Given the description of an element on the screen output the (x, y) to click on. 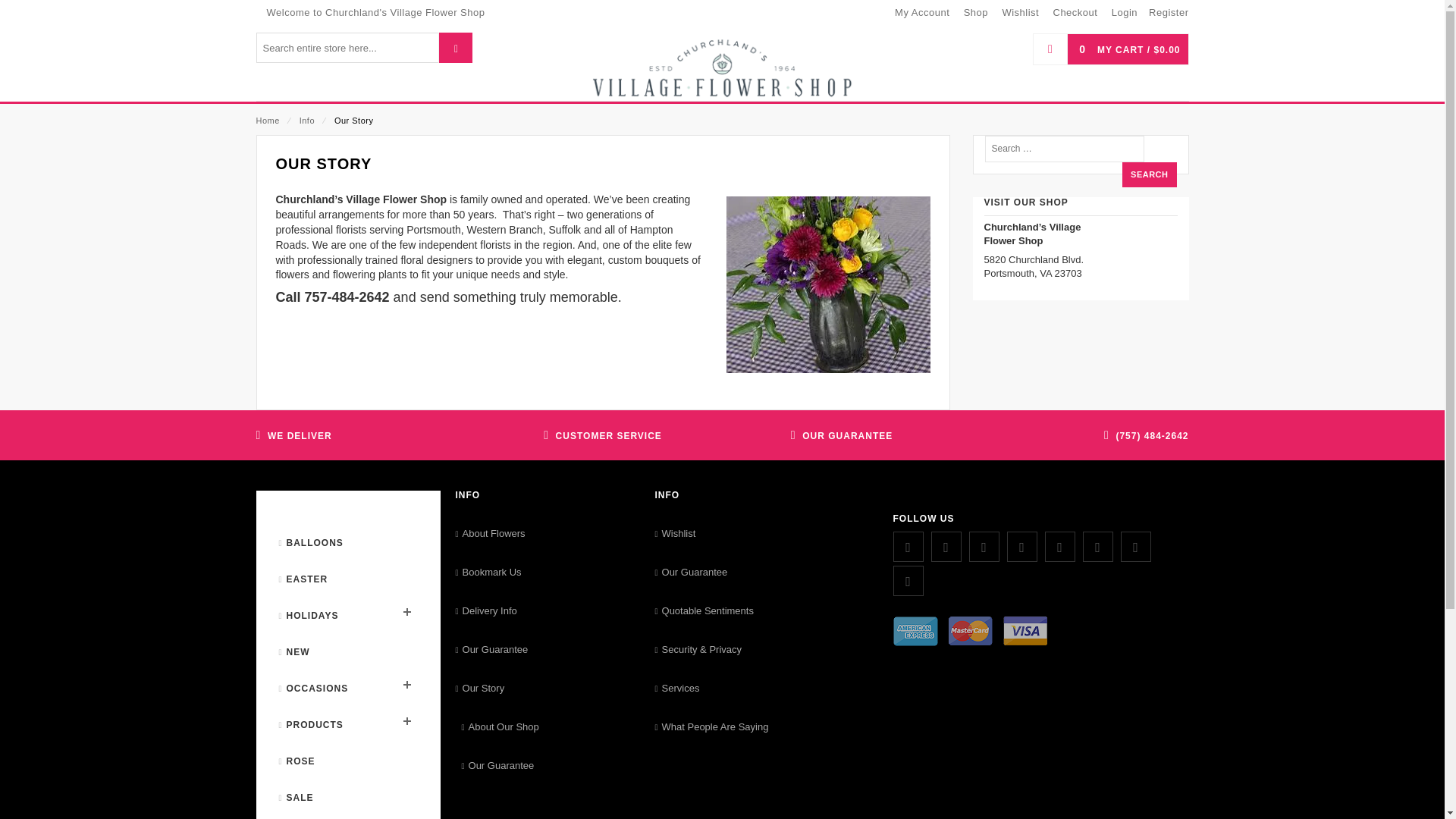
Register (1168, 14)
Search (1149, 175)
Home (267, 120)
BALLOONS (311, 542)
NEW (294, 652)
Checkout (1074, 14)
EASTER (304, 579)
Shop (975, 14)
Login (1124, 14)
Search (1149, 175)
PRODUCTS (311, 724)
OCCASIONS (314, 688)
Wishlist (1020, 14)
My Account (922, 14)
Search (1149, 175)
